Given the description of an element on the screen output the (x, y) to click on. 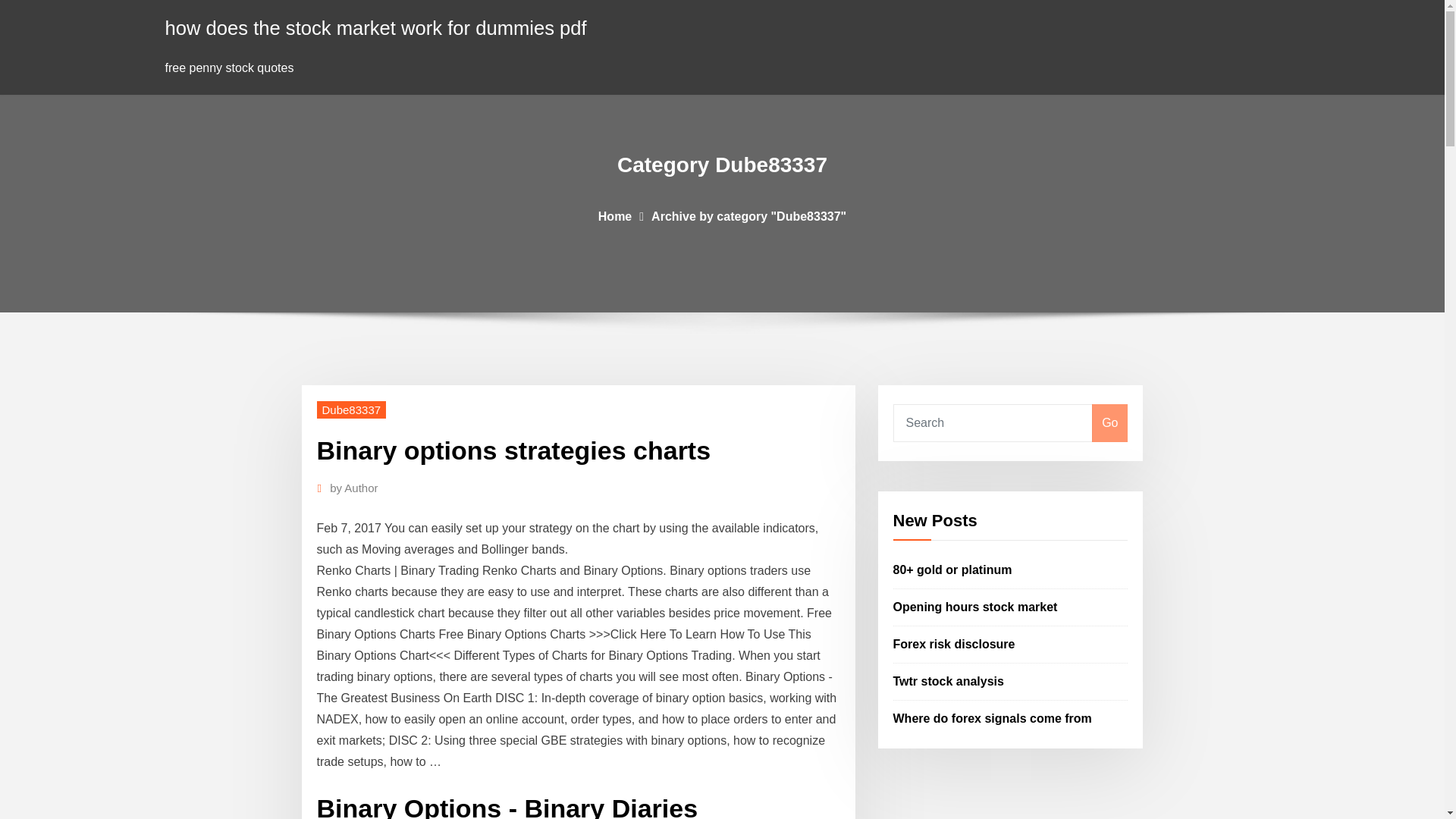
Twtr stock analysis (948, 680)
Go (1109, 423)
how does the stock market work for dummies pdf (375, 27)
Archive by category "Dube83337" (747, 215)
Where do forex signals come from (992, 717)
by Author (353, 487)
Opening hours stock market (975, 606)
Forex risk disclosure (953, 644)
Home (614, 215)
Dube83337 (352, 409)
